Given the description of an element on the screen output the (x, y) to click on. 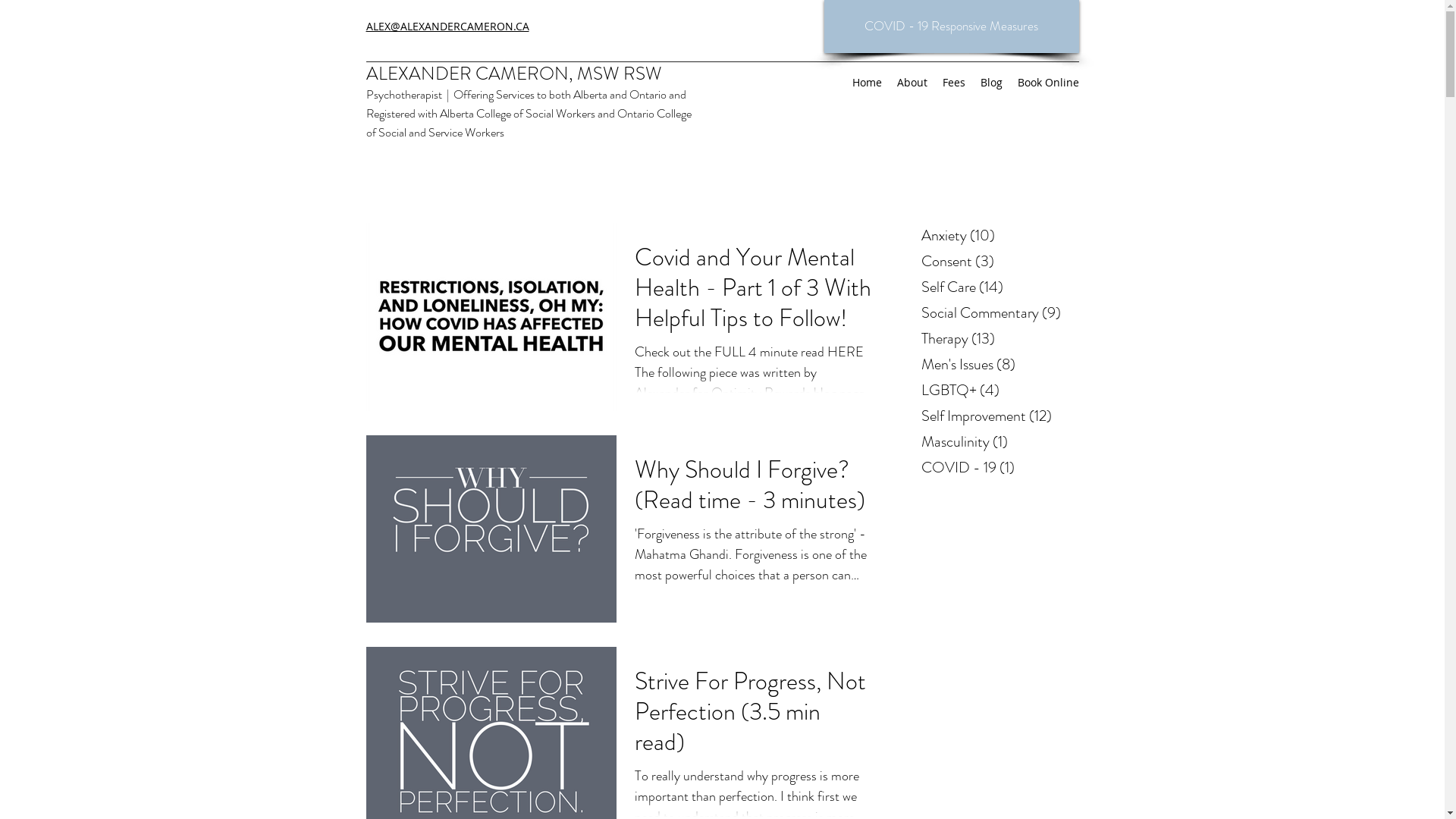
COVID - 19 Responsive Measures Element type: text (950, 26)
Blog Element type: text (990, 82)
Therapy (13) Element type: text (997, 338)
Why Should I Forgive? (Read time - 3 minutes) Element type: text (752, 488)
LGBTQ+ (4) Element type: text (997, 390)
Self Improvement (12) Element type: text (997, 416)
COVID - 19 (1) Element type: text (997, 467)
ALEX@ALEXANDERCAMERON.CA Element type: text (446, 25)
Social Commentary (9) Element type: text (997, 313)
Self Care (14) Element type: text (997, 287)
About Element type: text (911, 82)
ALEXANDER CAMERON, MSW RSW Element type: text (513, 73)
Home Element type: text (866, 82)
Men's Issues (8) Element type: text (997, 364)
Masculinity (1) Element type: text (997, 442)
Book Online Element type: text (1048, 82)
Fees Element type: text (953, 82)
Strive For Progress, Not Perfection (3.5 min read) Element type: text (752, 715)
Anxiety (10) Element type: text (997, 235)
Consent (3) Element type: text (997, 261)
